Given the description of an element on the screen output the (x, y) to click on. 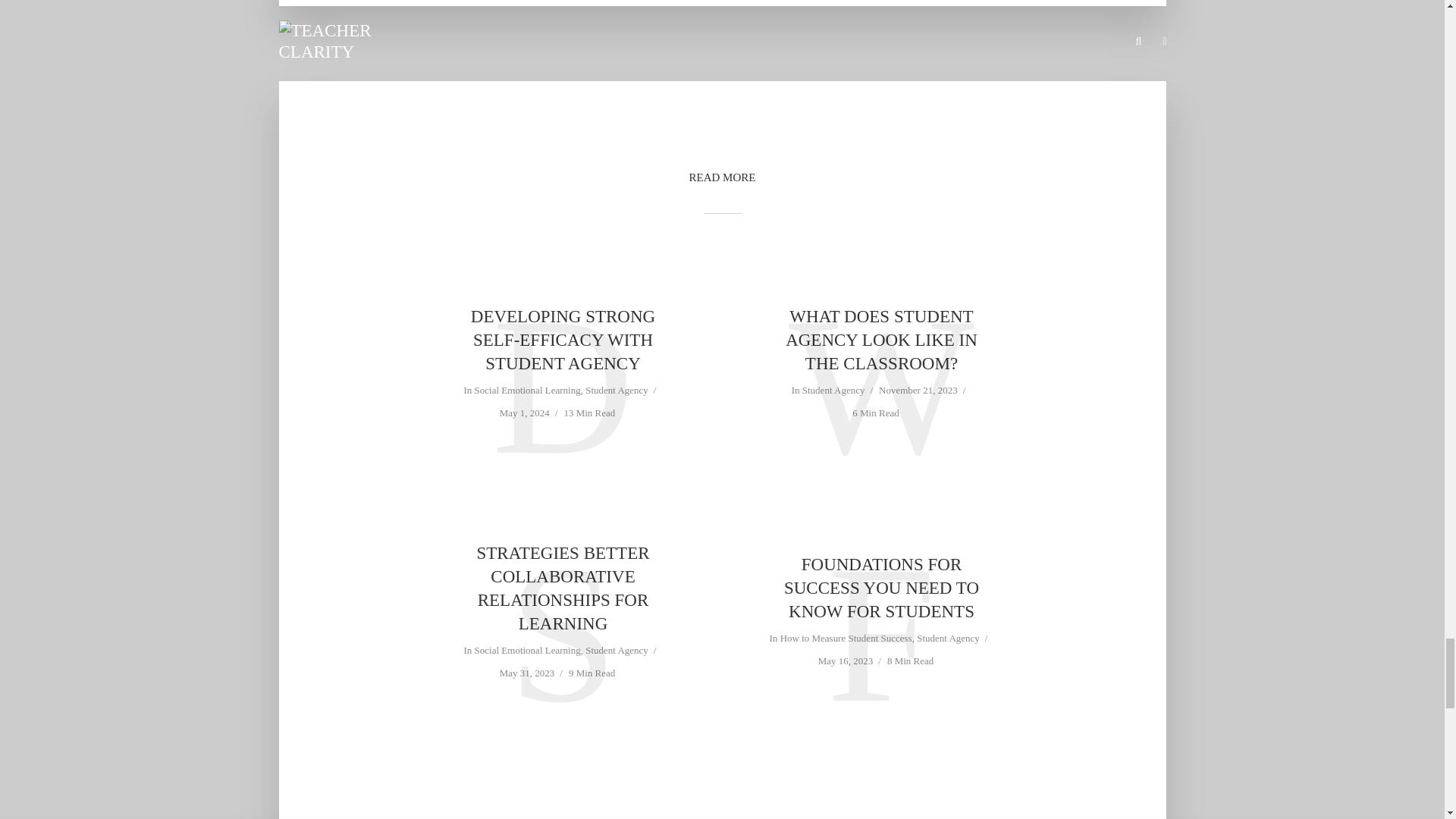
WHAT DOES STUDENT AGENCY LOOK LIKE IN THE CLASSROOM? (880, 339)
Student Agency (833, 391)
Social Emotional Learning (527, 651)
STRATEGIES BETTER COLLABORATIVE RELATIONSHIPS FOR LEARNING (562, 588)
Social Emotional Learning (527, 391)
Student Agency (616, 651)
Student Agency (616, 391)
DEVELOPING STRONG SELF-EFFICACY WITH STUDENT AGENCY (562, 339)
